Given the description of an element on the screen output the (x, y) to click on. 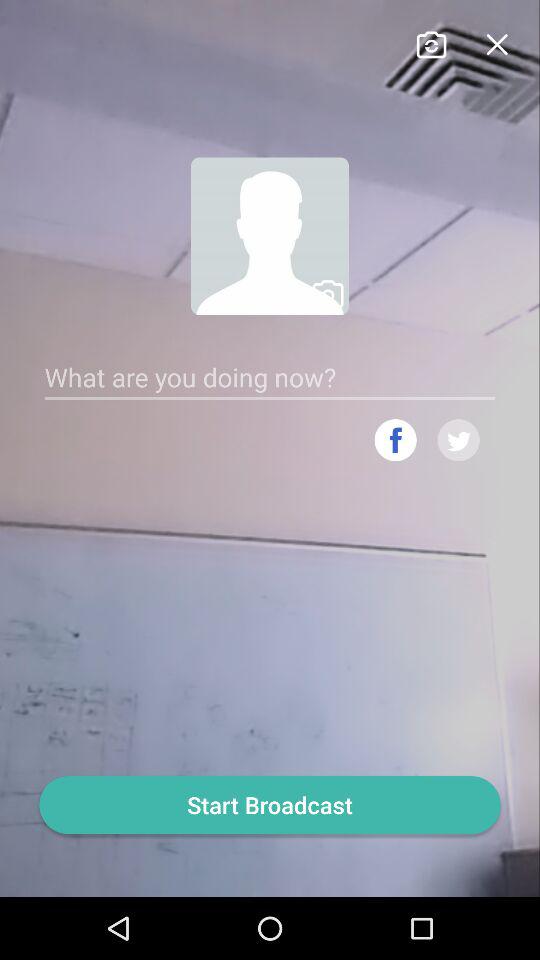
go to close (496, 42)
